Given the description of an element on the screen output the (x, y) to click on. 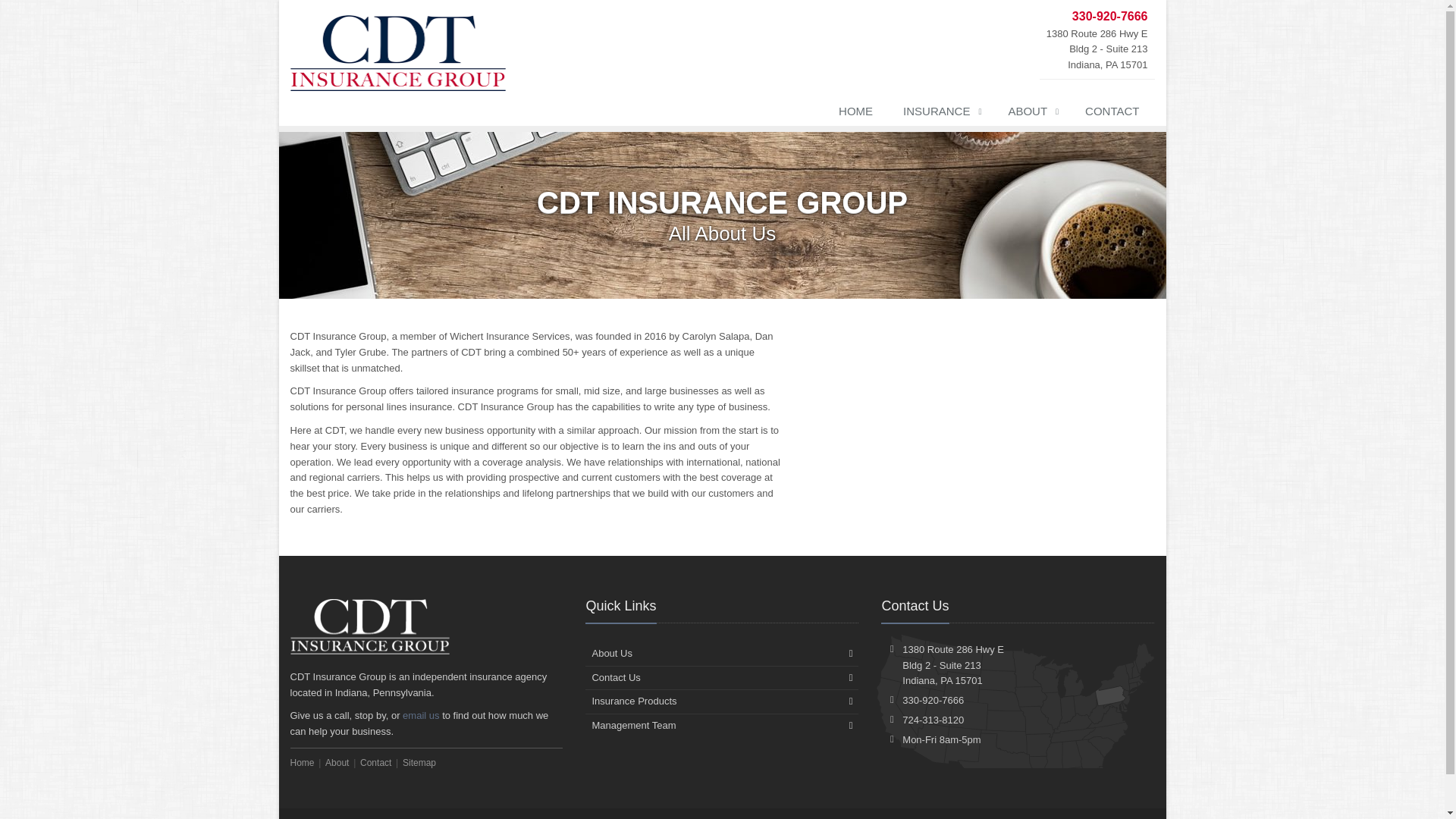
Contact (375, 762)
Sitemap (419, 762)
Home (301, 762)
Management Team (722, 725)
Contact Us (722, 677)
About Us (722, 653)
Insurance Products (722, 701)
email us (421, 715)
About (336, 762)
